Given the description of an element on the screen output the (x, y) to click on. 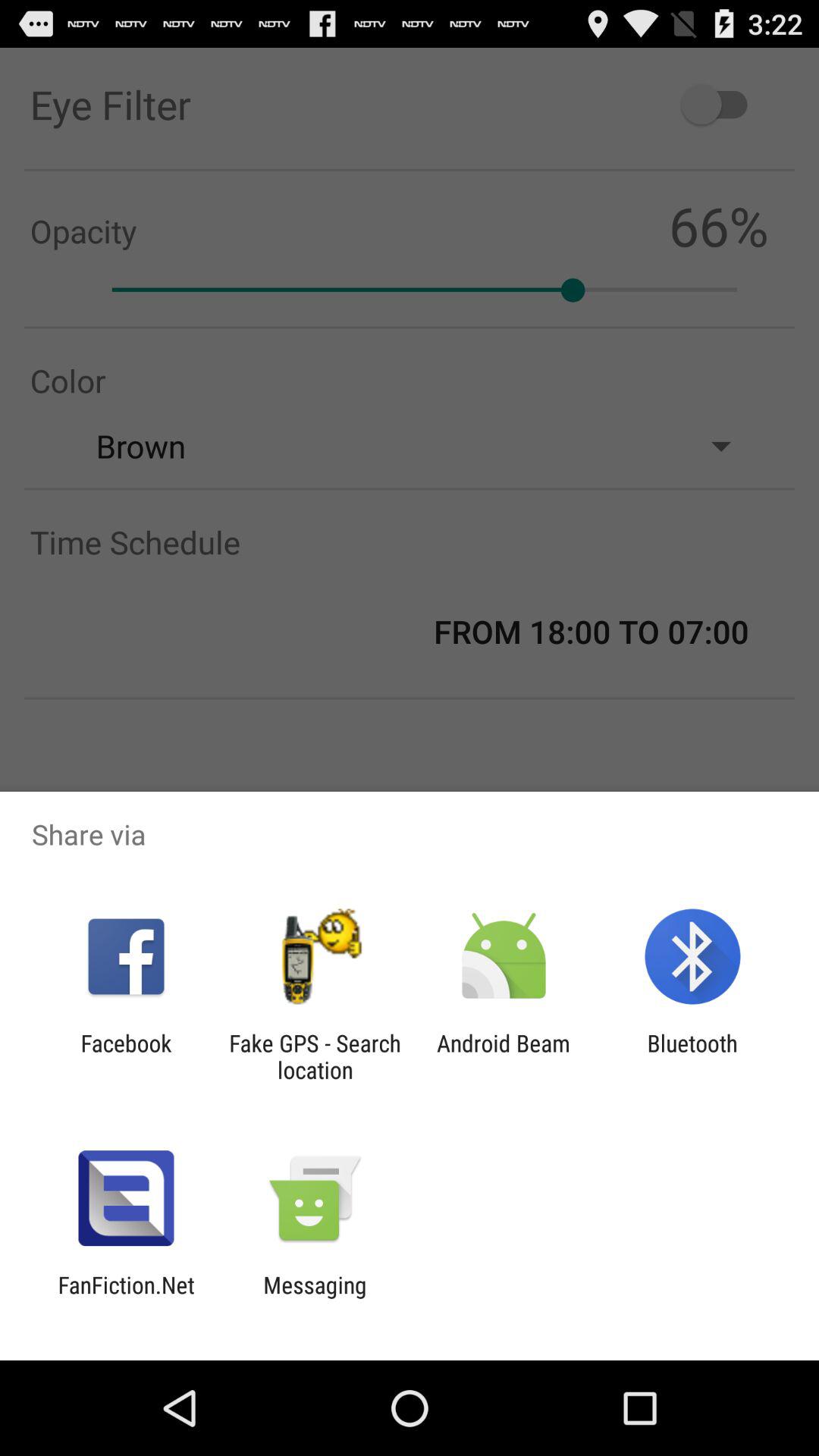
flip to the messaging icon (314, 1298)
